Given the description of an element on the screen output the (x, y) to click on. 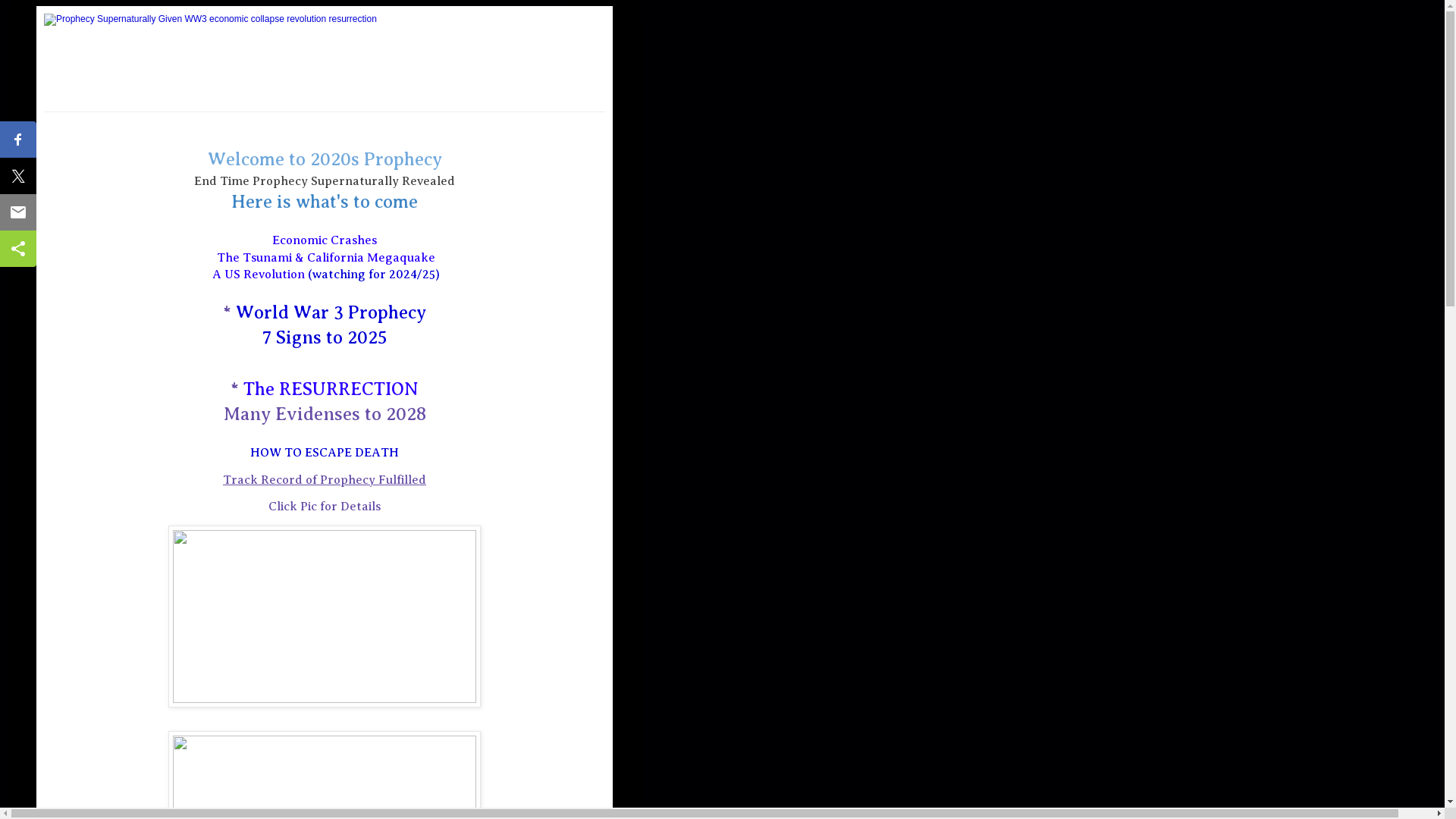
The Tsunami & California Megaquake Element type: text (325, 257)
HOW TO ESCAPE DEATH Element type: text (324, 452)
A US Revolution Element type: text (258, 274)
(watching for 2024/25) Element type: text (373, 274)
World War 3 Prophecy Element type: text (330, 312)
7 Signs to 2025 Element type: text (324, 337)
Economic Crashes Element type: text (324, 240)
The RESURRECTION
Many Evidenses to 2028 Element type: text (323, 401)
